Given the description of an element on the screen output the (x, y) to click on. 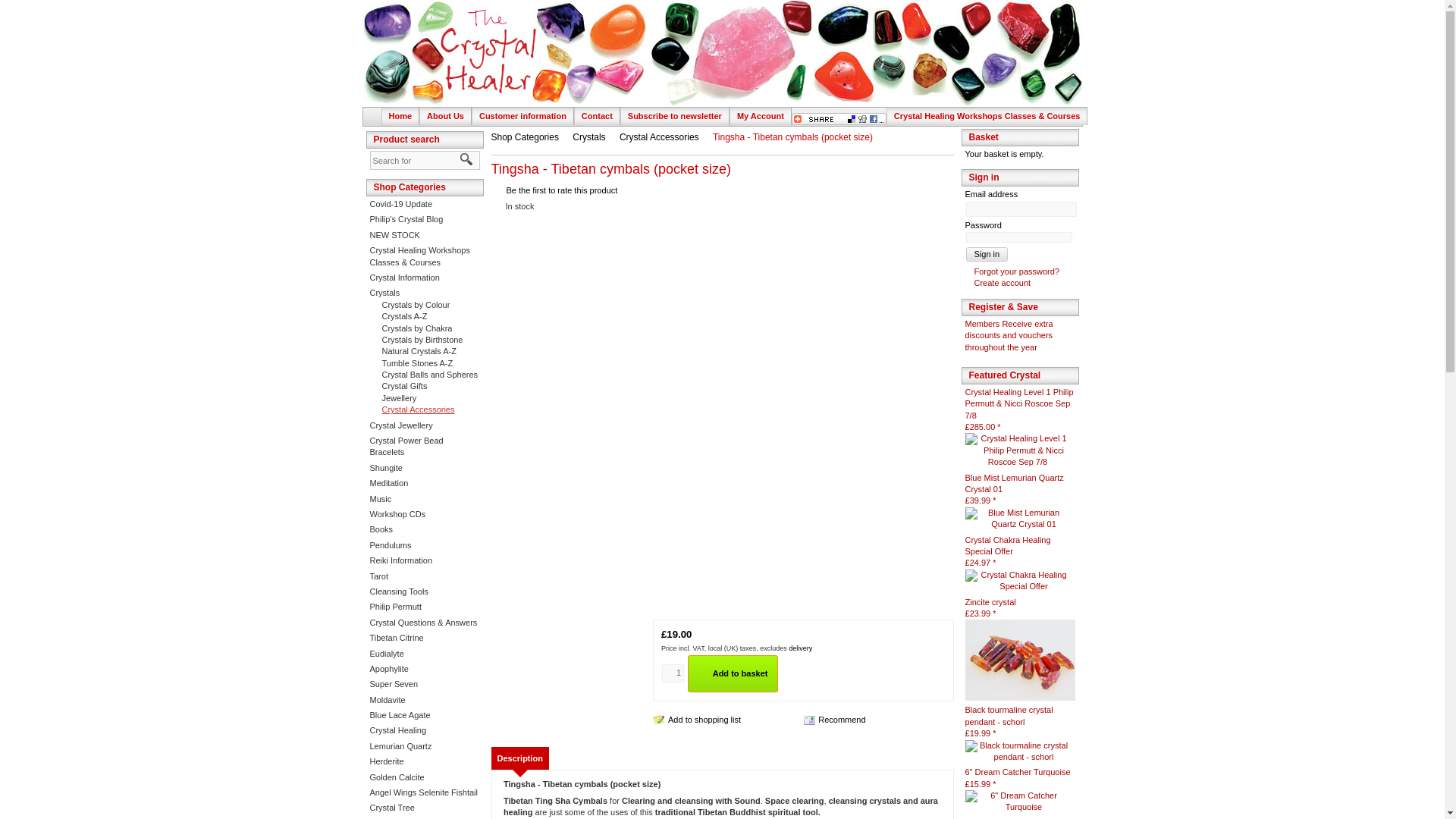
Go to product (1020, 659)
Shungite (386, 467)
Covid-19 Update (400, 203)
Customer information (526, 115)
Crystal Accessories (411, 409)
Subscribe to newsletter (678, 115)
Crystal Power Bead Bracelets (406, 445)
Tumble Stones A-Z (410, 362)
Crystal Balls and Spheres (424, 374)
Natural Crystals A-Z (413, 350)
